Given the description of an element on the screen output the (x, y) to click on. 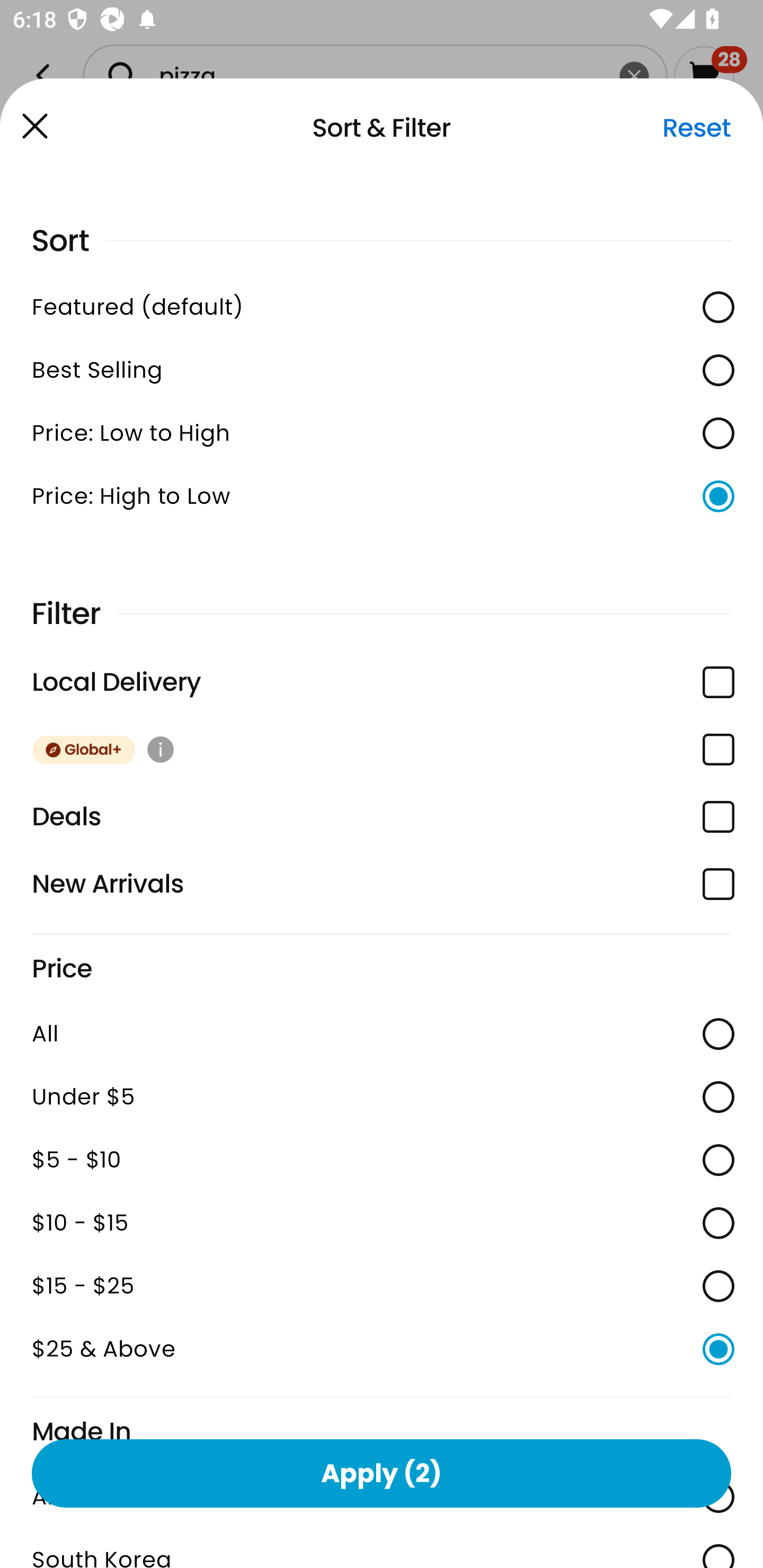
Reset (696, 127)
Apply (2) (381, 1472)
